Given the description of an element on the screen output the (x, y) to click on. 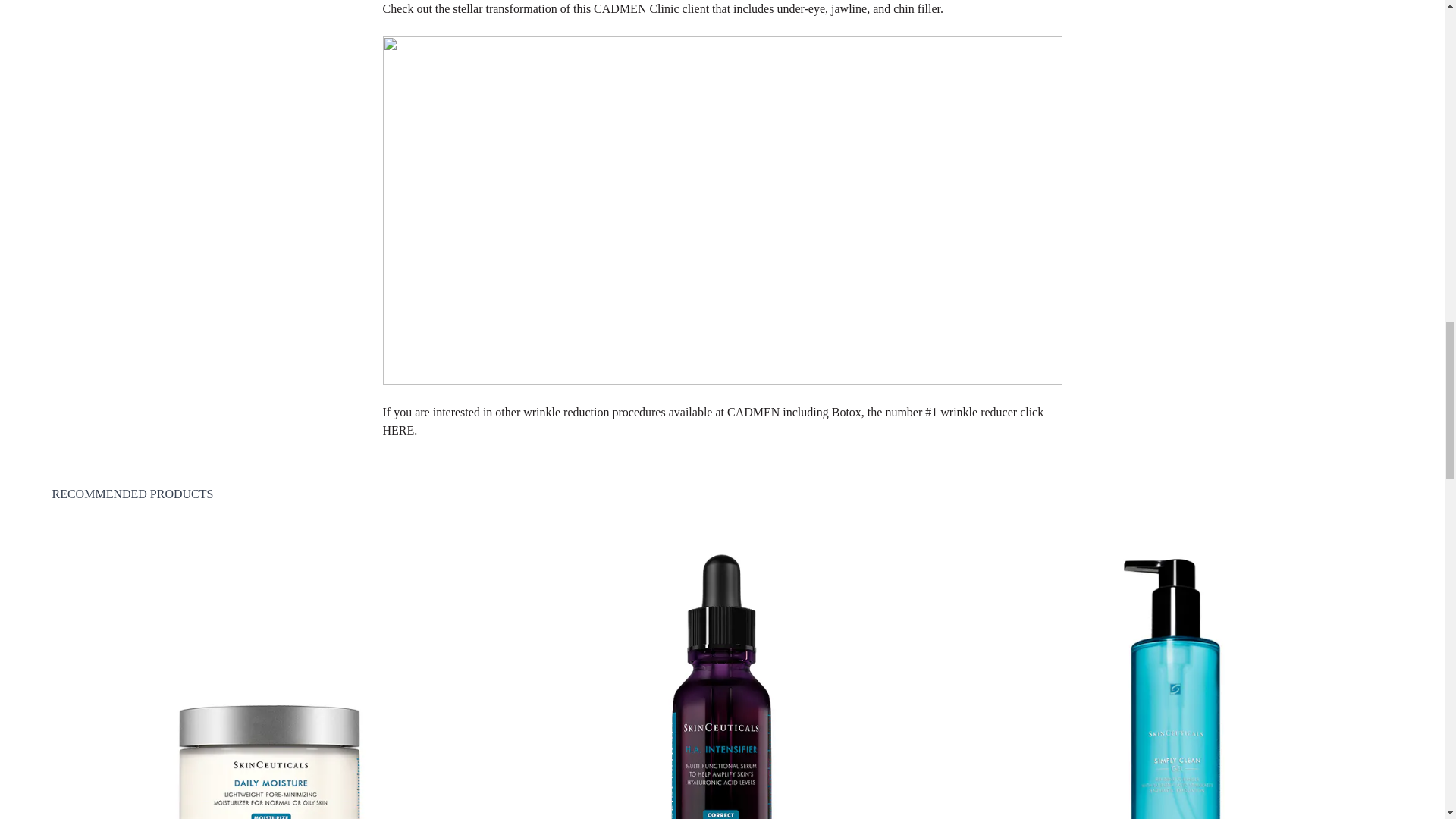
HERE. (398, 430)
